Given the description of an element on the screen output the (x, y) to click on. 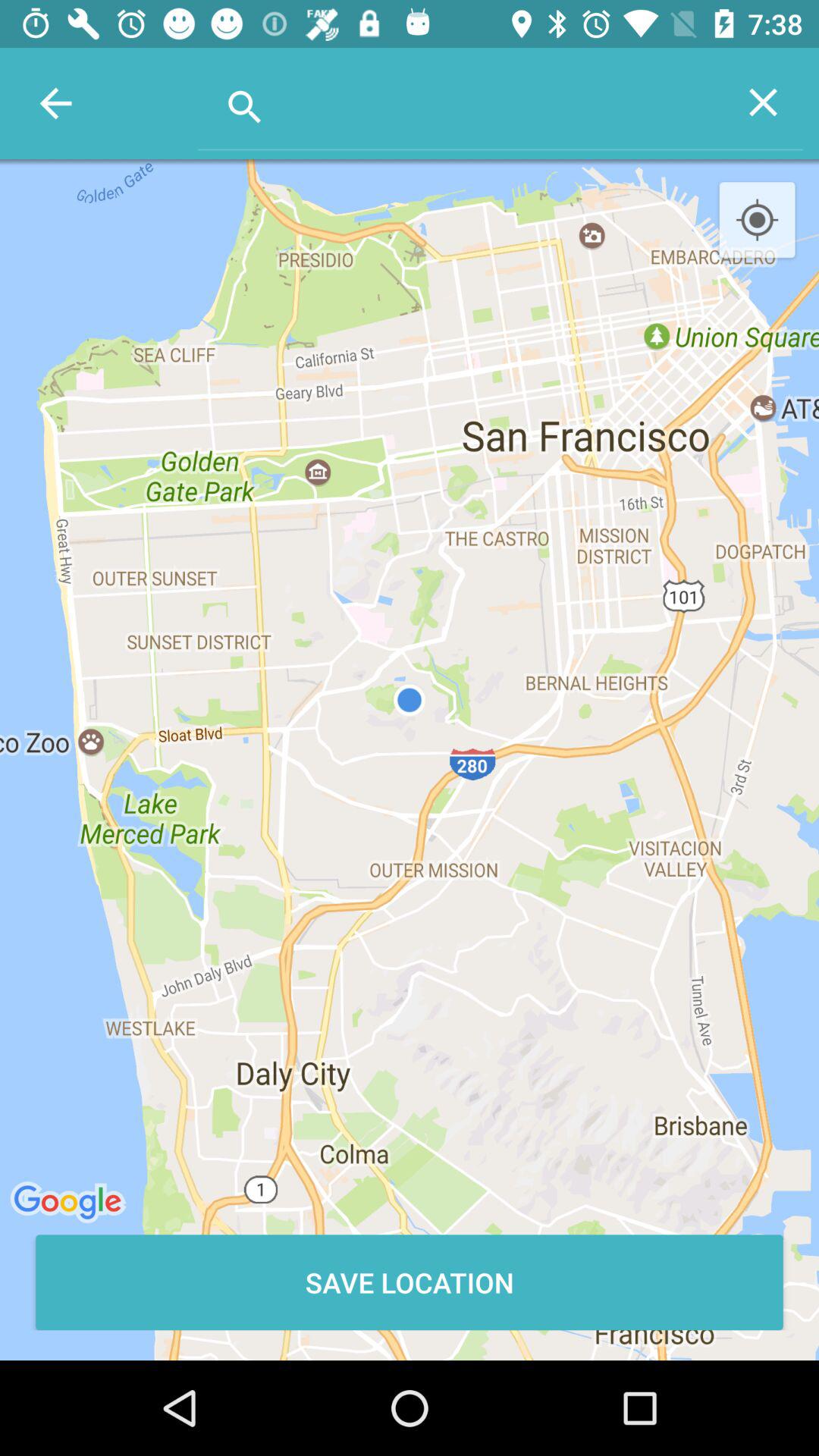
swipe until the save location item (409, 1282)
